Given the description of an element on the screen output the (x, y) to click on. 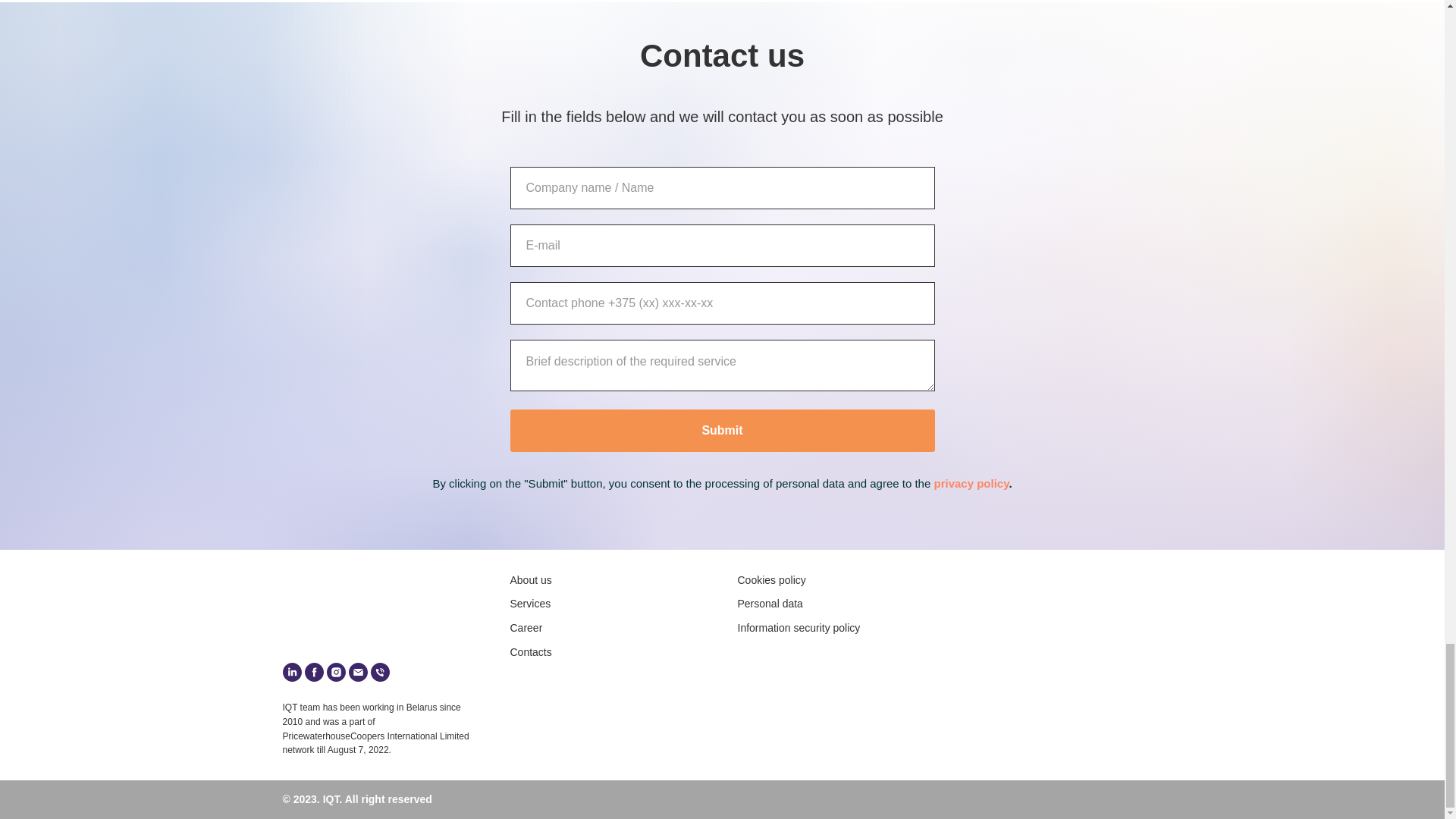
Cookies policy (770, 580)
privacy policy (971, 482)
Career (525, 627)
Contacts (530, 652)
Services (529, 603)
Submit (721, 430)
About us (530, 580)
Personal data (769, 603)
Information security policy (798, 627)
